Given the description of an element on the screen output the (x, y) to click on. 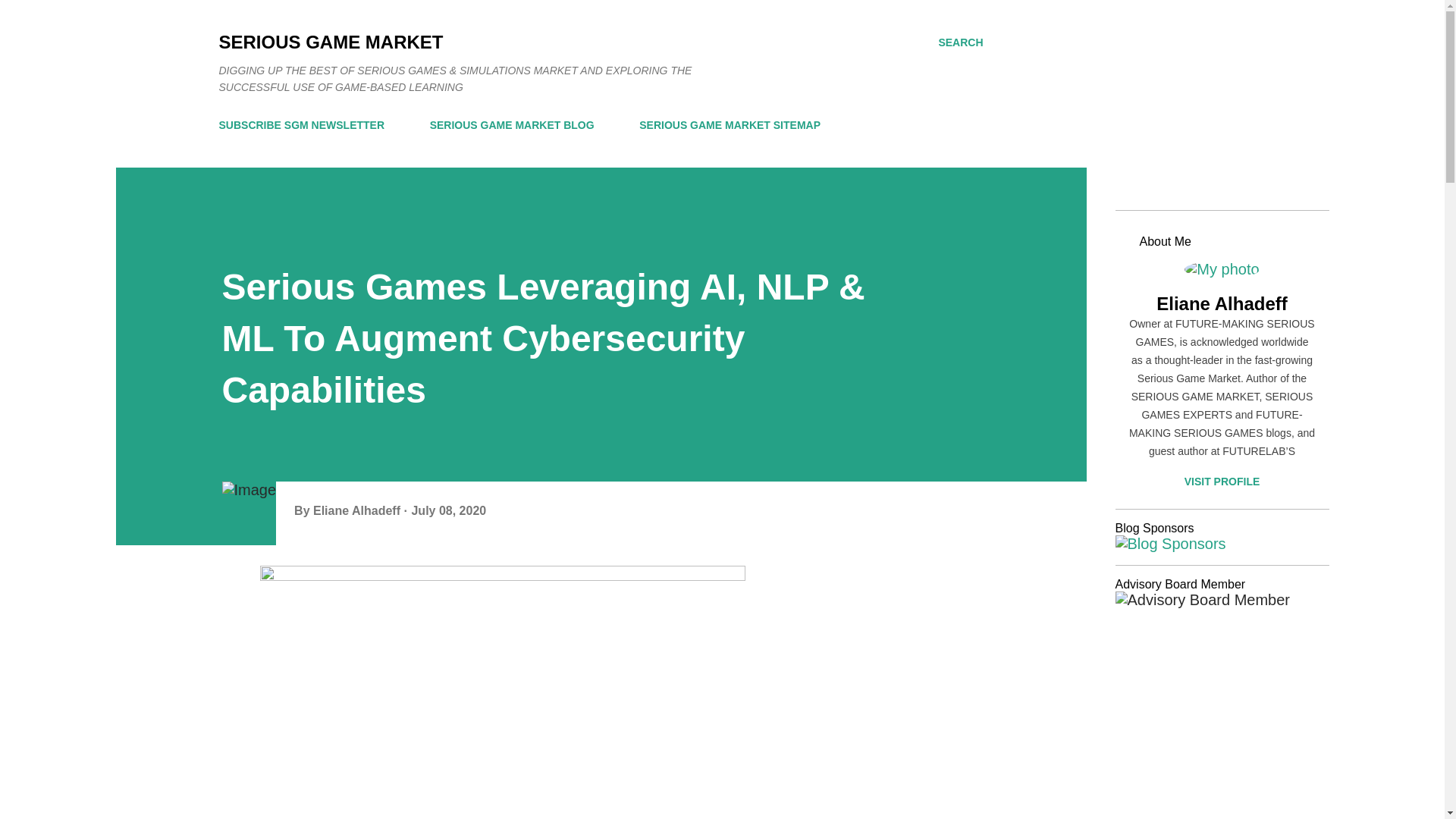
SERIOUS GAME MARKET BLOG (512, 124)
VISIT PROFILE (1221, 481)
Eliane Alhadeff (1221, 303)
July 08, 2020 (448, 510)
author profile (358, 510)
SUBSCRIBE SGM NEWSLETTER (305, 124)
SERIOUS GAME MARKET (330, 41)
permanent link (448, 510)
SERIOUS GAME MARKET SITEMAP (729, 124)
Eliane Alhadeff (358, 510)
SEARCH (959, 42)
